Given the description of an element on the screen output the (x, y) to click on. 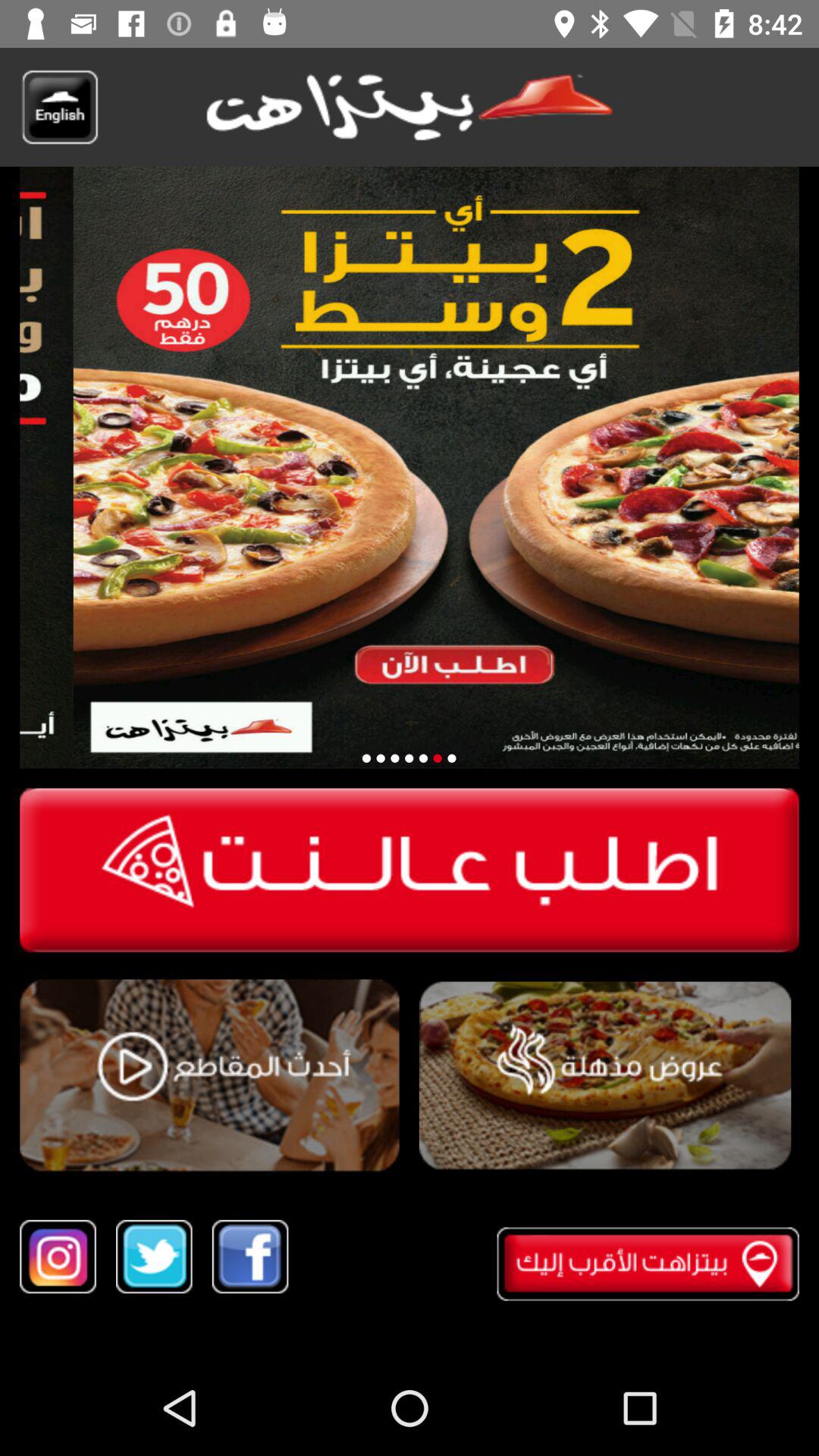
go to instagram (57, 1256)
